Given the description of an element on the screen output the (x, y) to click on. 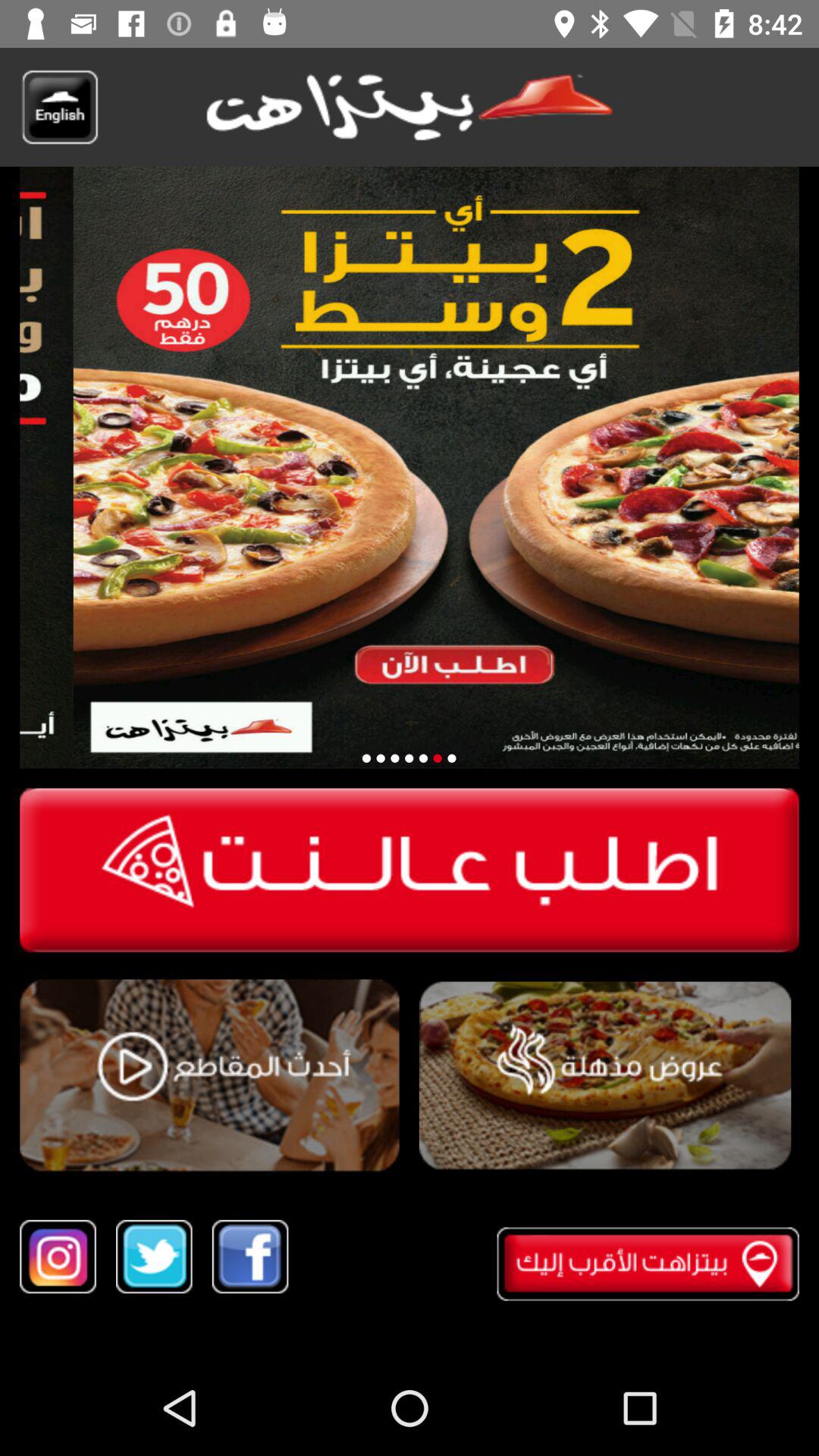
go to instagram (57, 1256)
